Given the description of an element on the screen output the (x, y) to click on. 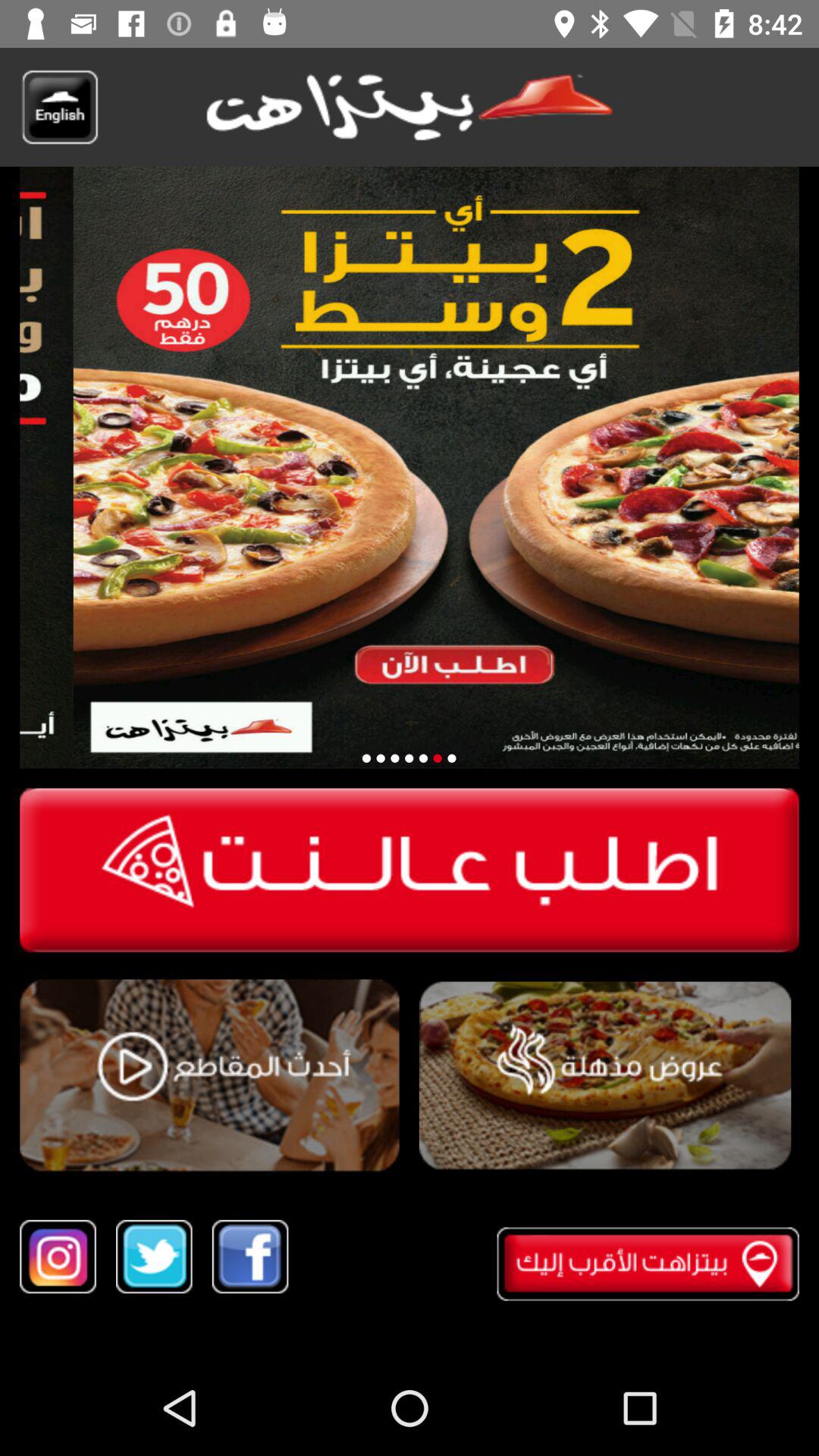
go to instagram (57, 1256)
